Given the description of an element on the screen output the (x, y) to click on. 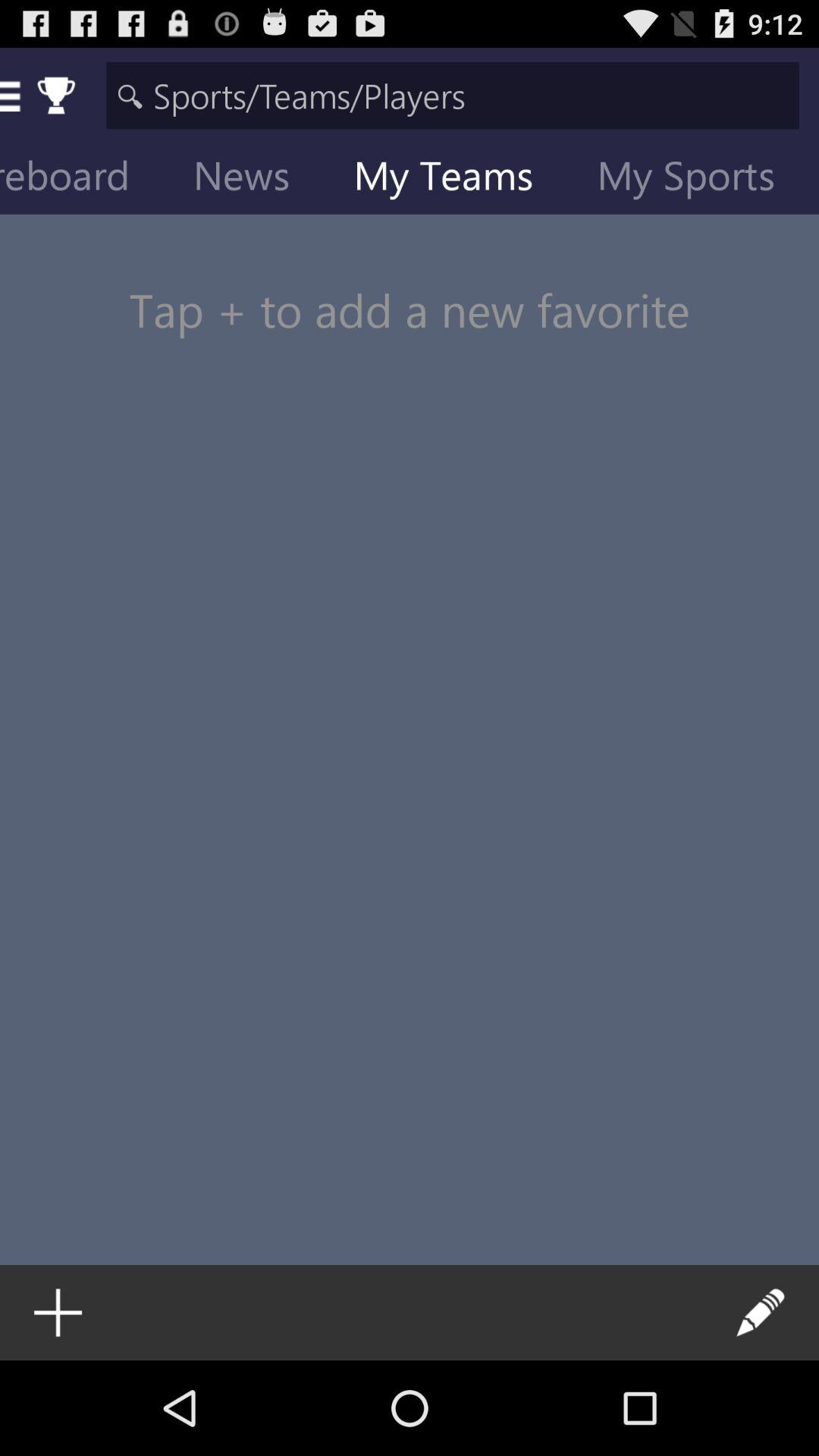
scroll to scoreboard item (86, 178)
